Given the description of an element on the screen output the (x, y) to click on. 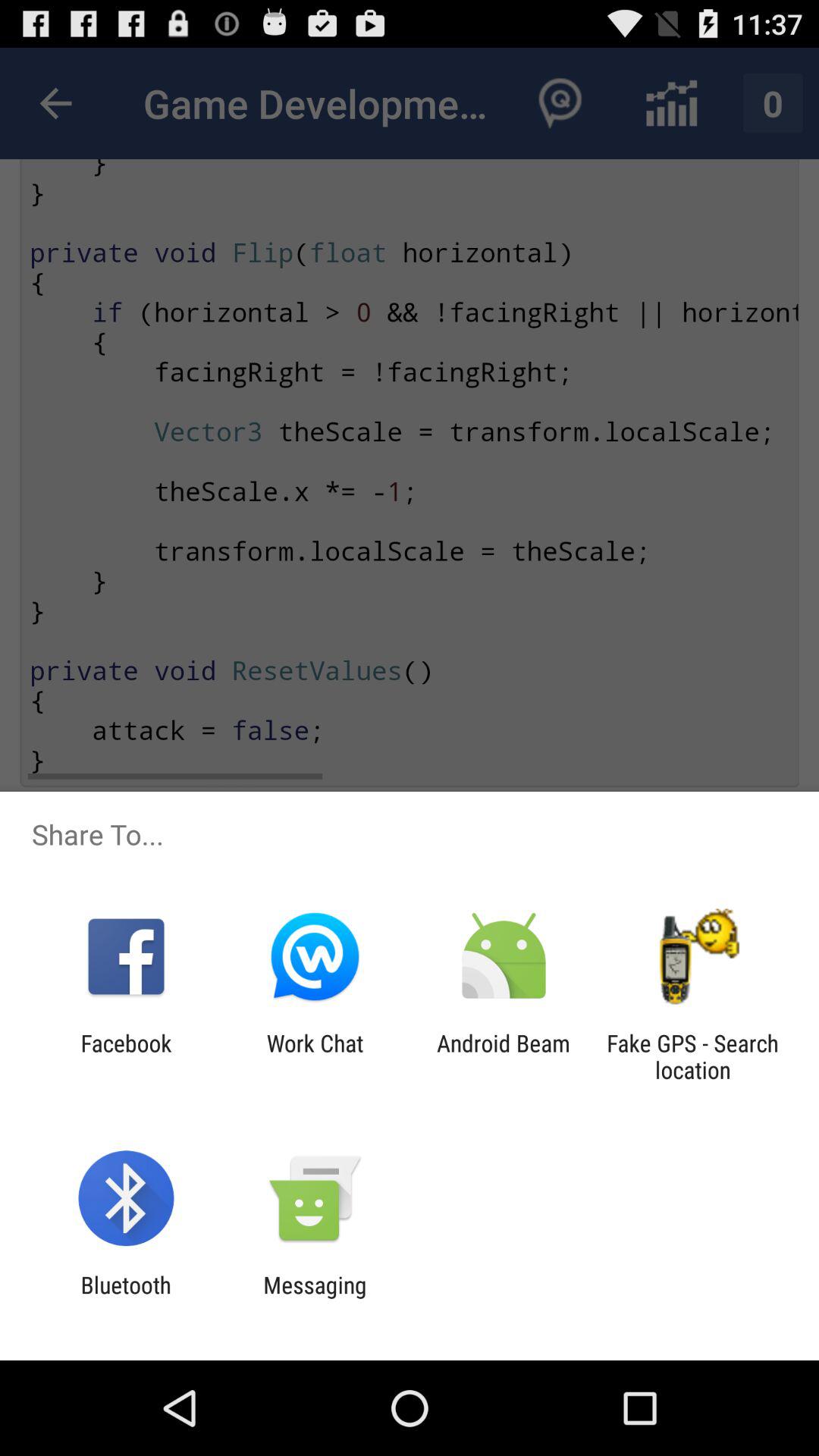
open the icon next to the android beam item (692, 1056)
